Given the description of an element on the screen output the (x, y) to click on. 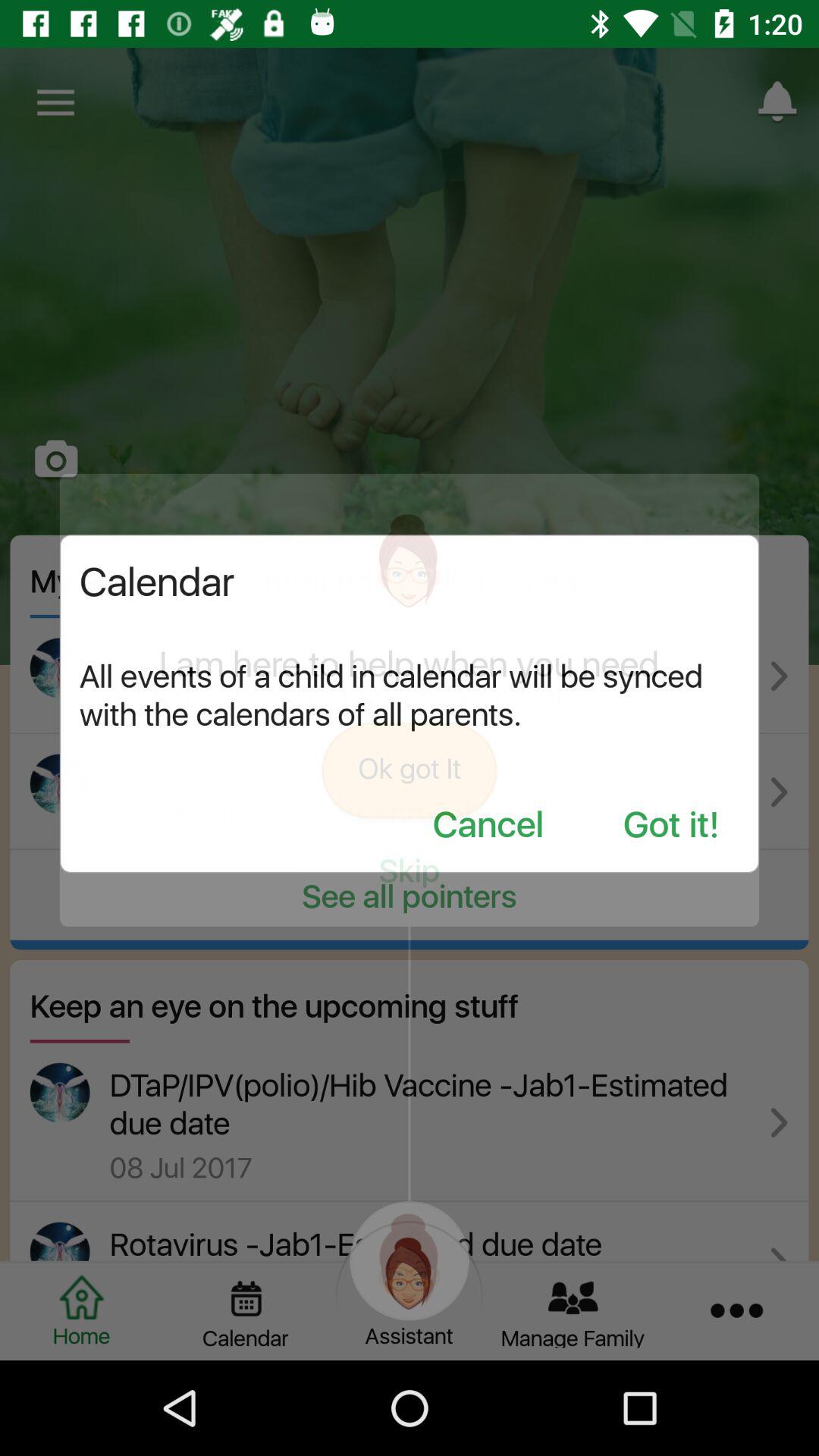
swipe to cancel (487, 826)
